Given the description of an element on the screen output the (x, y) to click on. 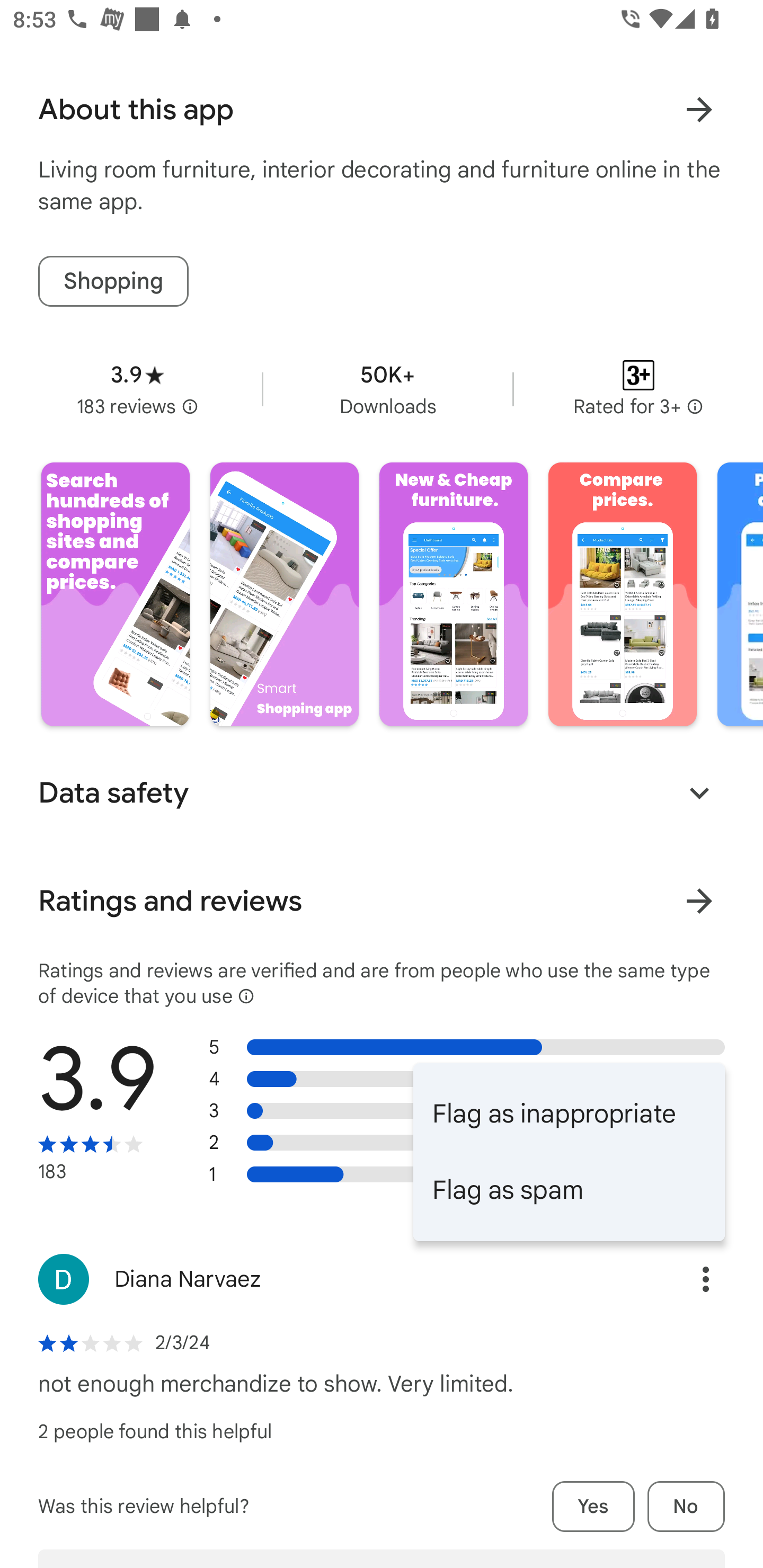
Flag as inappropriate (568, 1113)
Flag as spam (568, 1189)
